Given the description of an element on the screen output the (x, y) to click on. 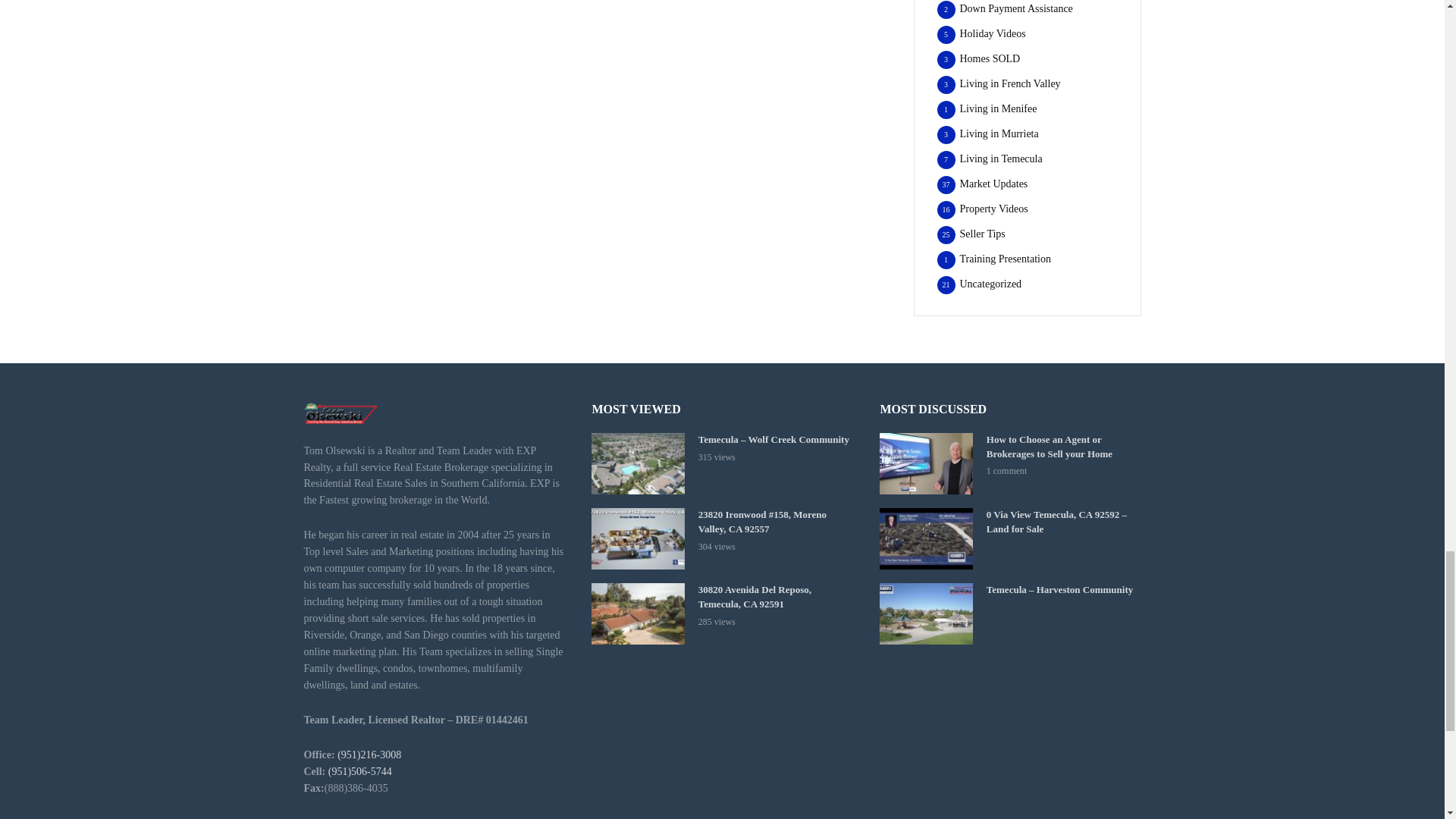
30820 Avenida Del Reposo, Temecula, CA 92591 (637, 613)
How to Choose an Agent or Brokerages to Sell your Home (925, 463)
